Given the description of an element on the screen output the (x, y) to click on. 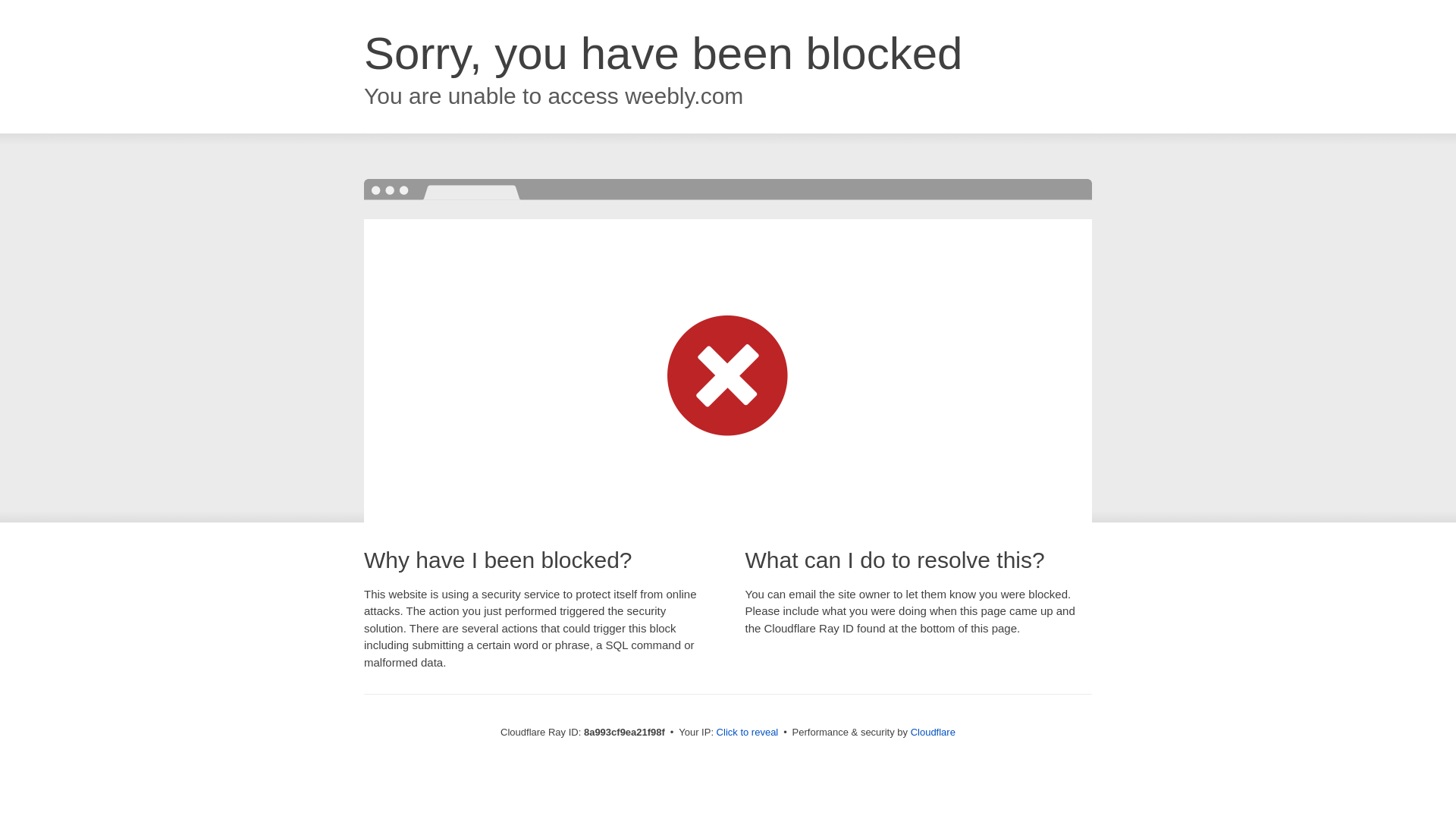
Click to reveal (747, 732)
Cloudflare (933, 731)
